Given the description of an element on the screen output the (x, y) to click on. 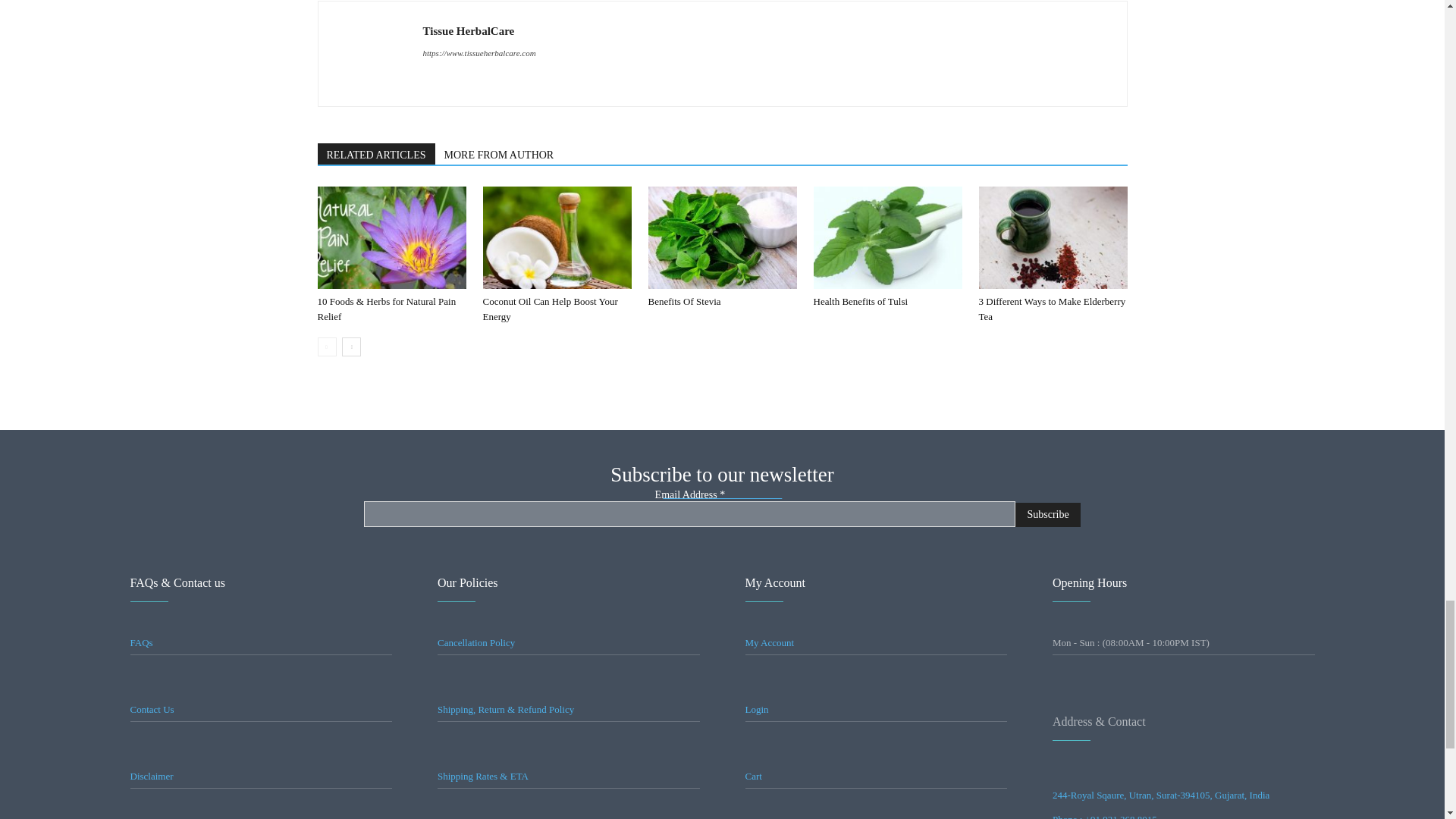
Subscribe (1047, 514)
